Given the description of an element on the screen output the (x, y) to click on. 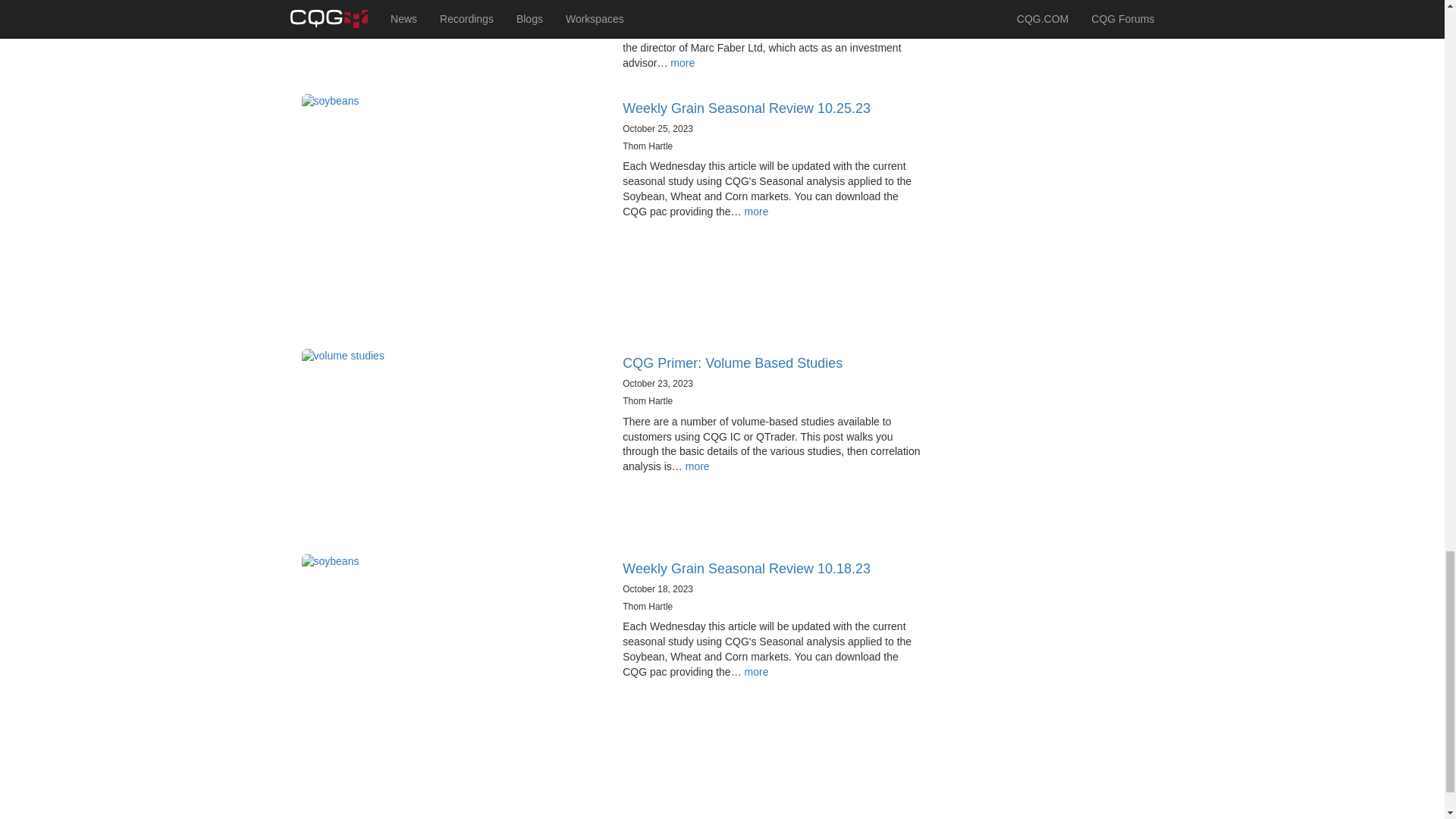
CQG Primer: Volume Based Studies (733, 363)
Weekly Grain Seasonal Review 10.25.23 (746, 108)
more (681, 62)
more (756, 211)
more (697, 466)
